Given the description of an element on the screen output the (x, y) to click on. 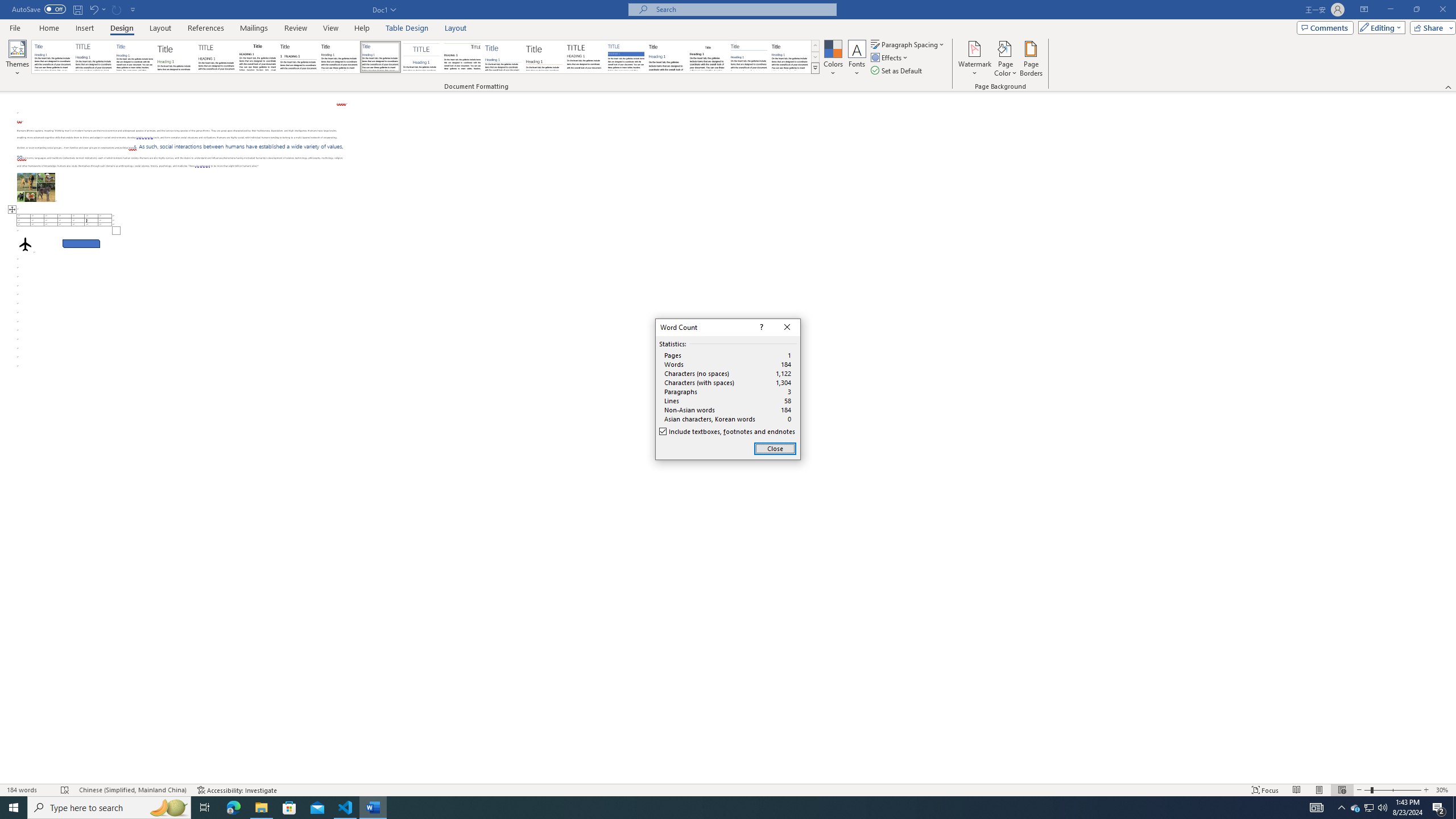
Black & White (Capitalized) (216, 56)
Visual Studio Code - 1 running window (345, 807)
Microsoft Store (289, 807)
Document (52, 56)
AutoSave (38, 9)
Row Down (814, 56)
Zoom (1392, 790)
Morphological variation in six dogs (1368, 807)
Class: NetUIScrollBar (36, 187)
Word Count 184 words (1450, 437)
Word 2003 (28, 790)
Editing (707, 56)
Word (1379, 27)
